Given the description of an element on the screen output the (x, y) to click on. 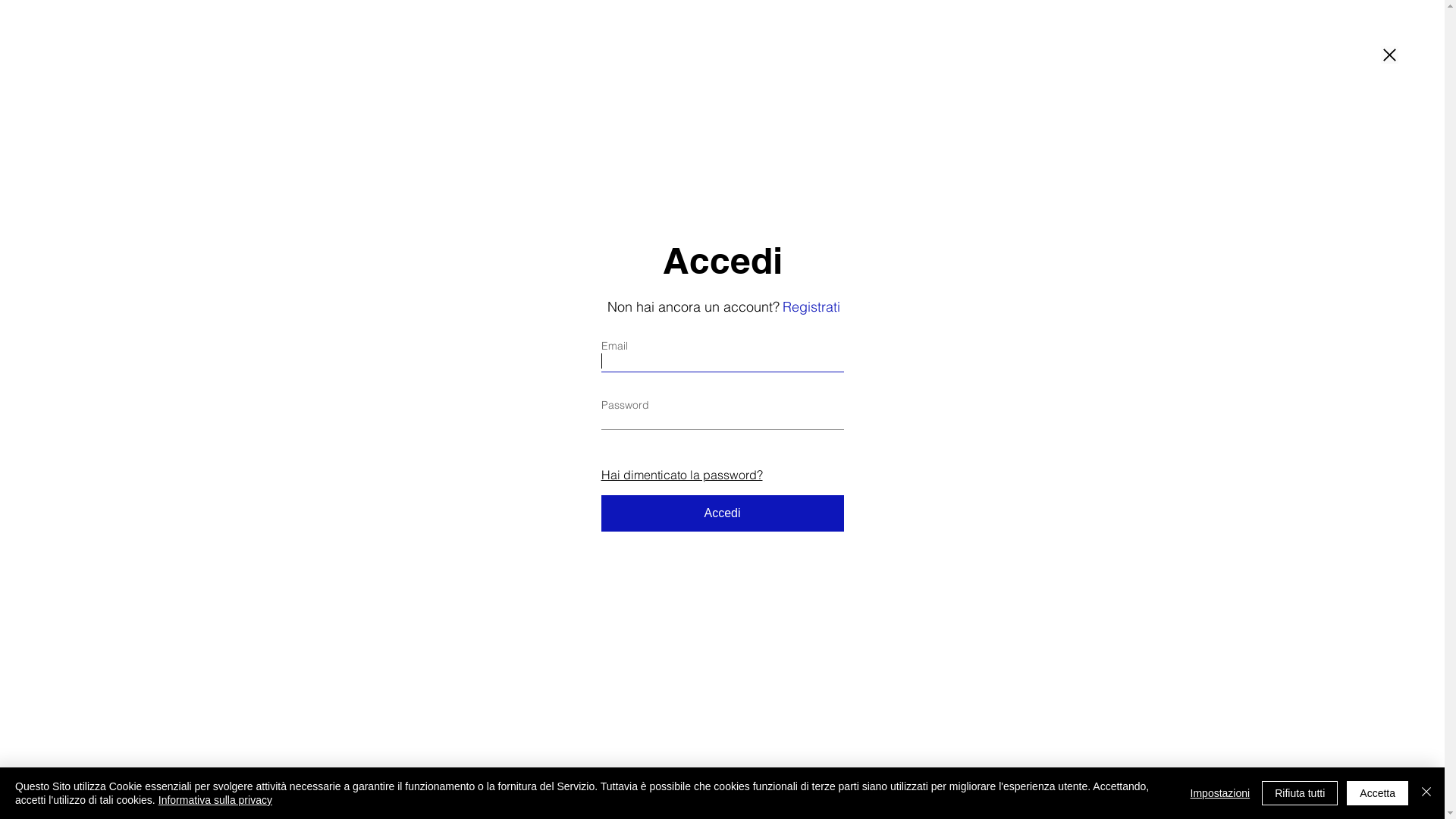
Hai dimenticato la password? Element type: text (681, 474)
Informativa sulla privacy Element type: text (215, 799)
Accedi Element type: text (721, 513)
Accetta Element type: text (1377, 793)
Registrati Element type: text (811, 306)
Rifiuta tutti Element type: text (1299, 793)
